Given the description of an element on the screen output the (x, y) to click on. 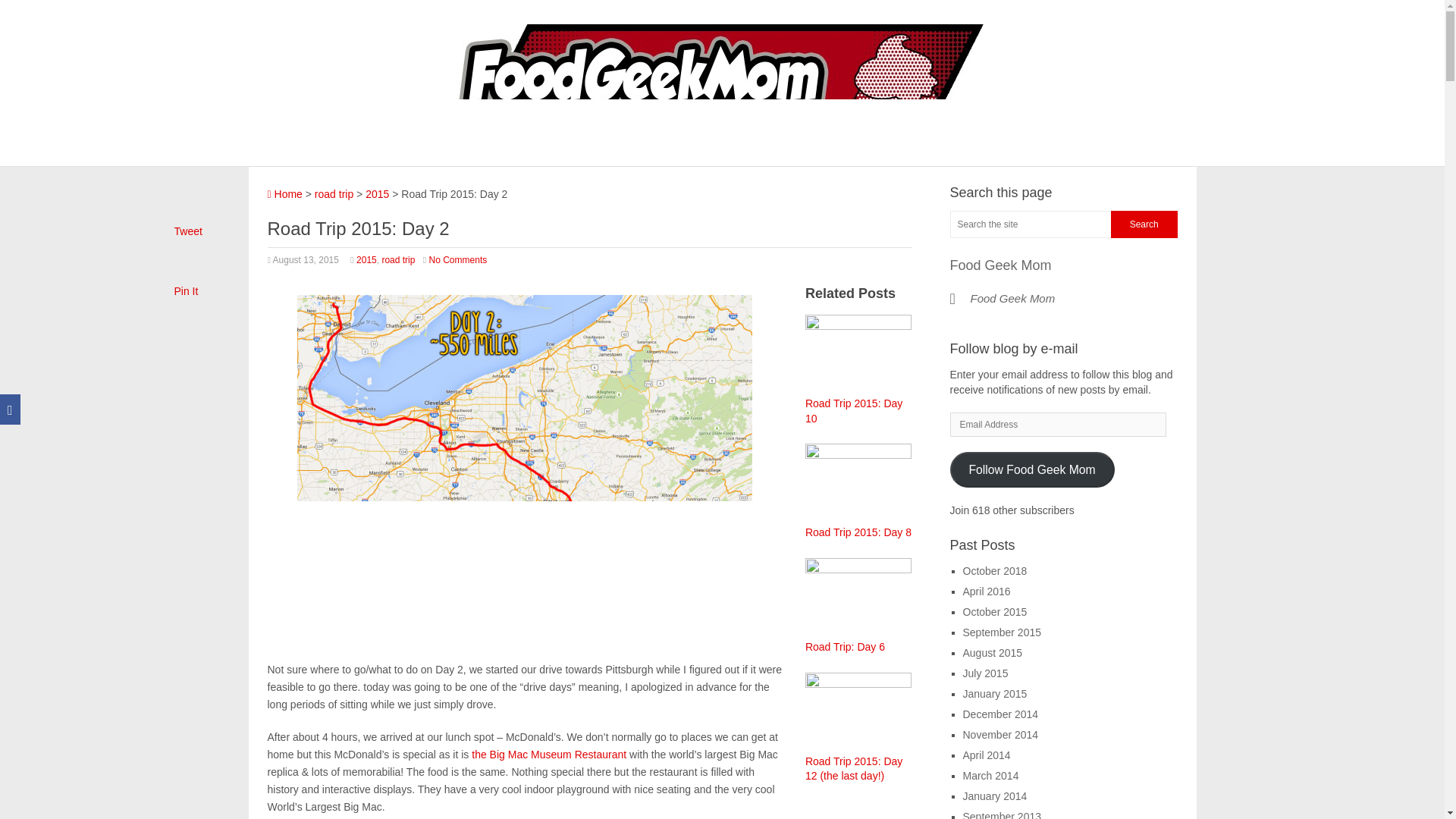
No Comments (458, 259)
Road Trip: Day 6 (845, 646)
Pin It (186, 291)
2015 (376, 193)
2015 (366, 259)
road trip (397, 259)
Tweet (188, 231)
 Home (283, 193)
Road Trip 2015: Day 8 (858, 532)
Search (1143, 224)
